Given the description of an element on the screen output the (x, y) to click on. 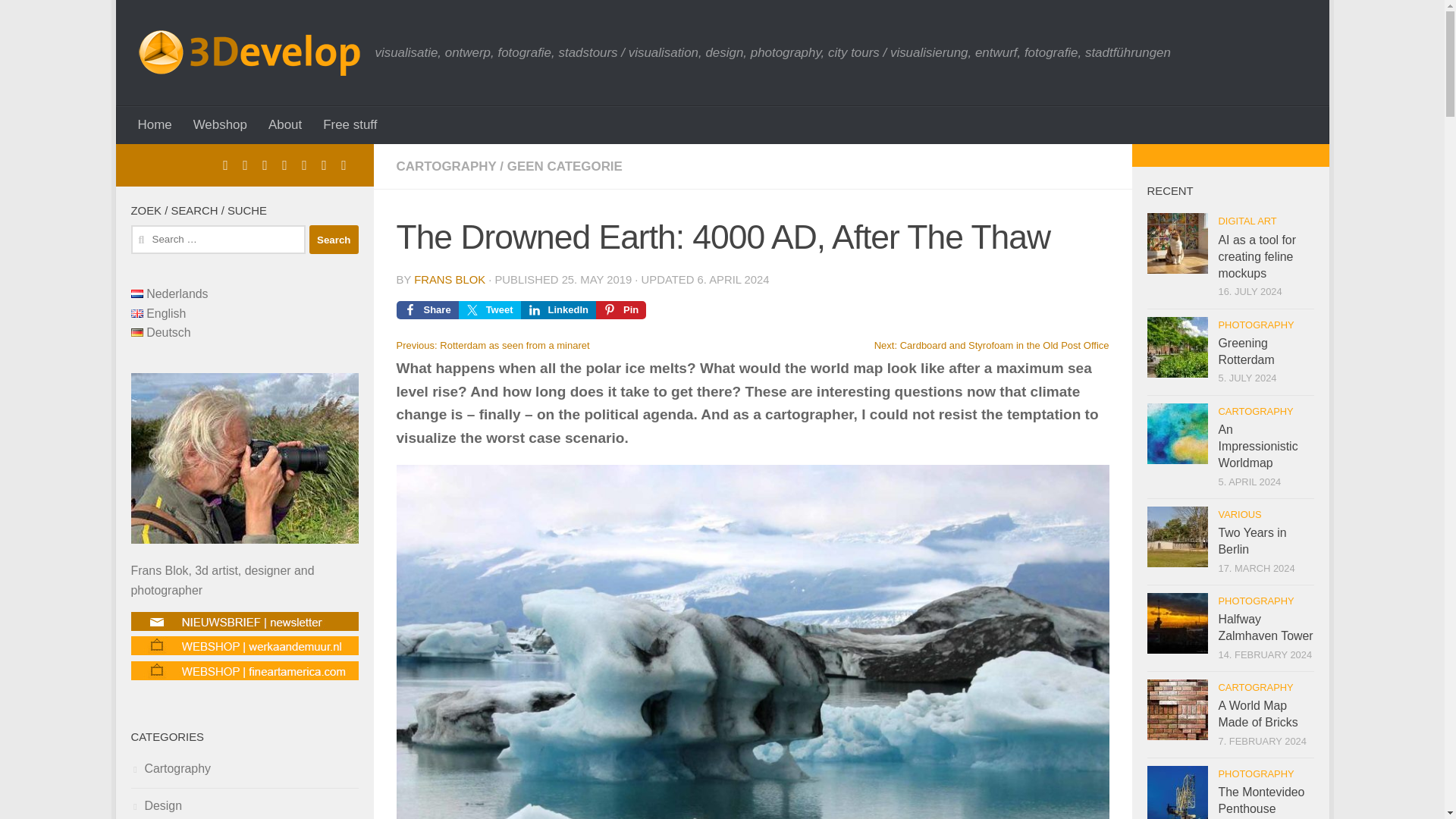
Share on Facebook (427, 310)
Search (333, 239)
Skip to content (181, 21)
Linkedin (263, 164)
Share on LinkedIn (558, 310)
About (285, 125)
Previous: Rotterdam as seen from a minaret (492, 345)
Facebook (224, 164)
Webshop (220, 125)
CARTOGRAPHY (446, 165)
